Given the description of an element on the screen output the (x, y) to click on. 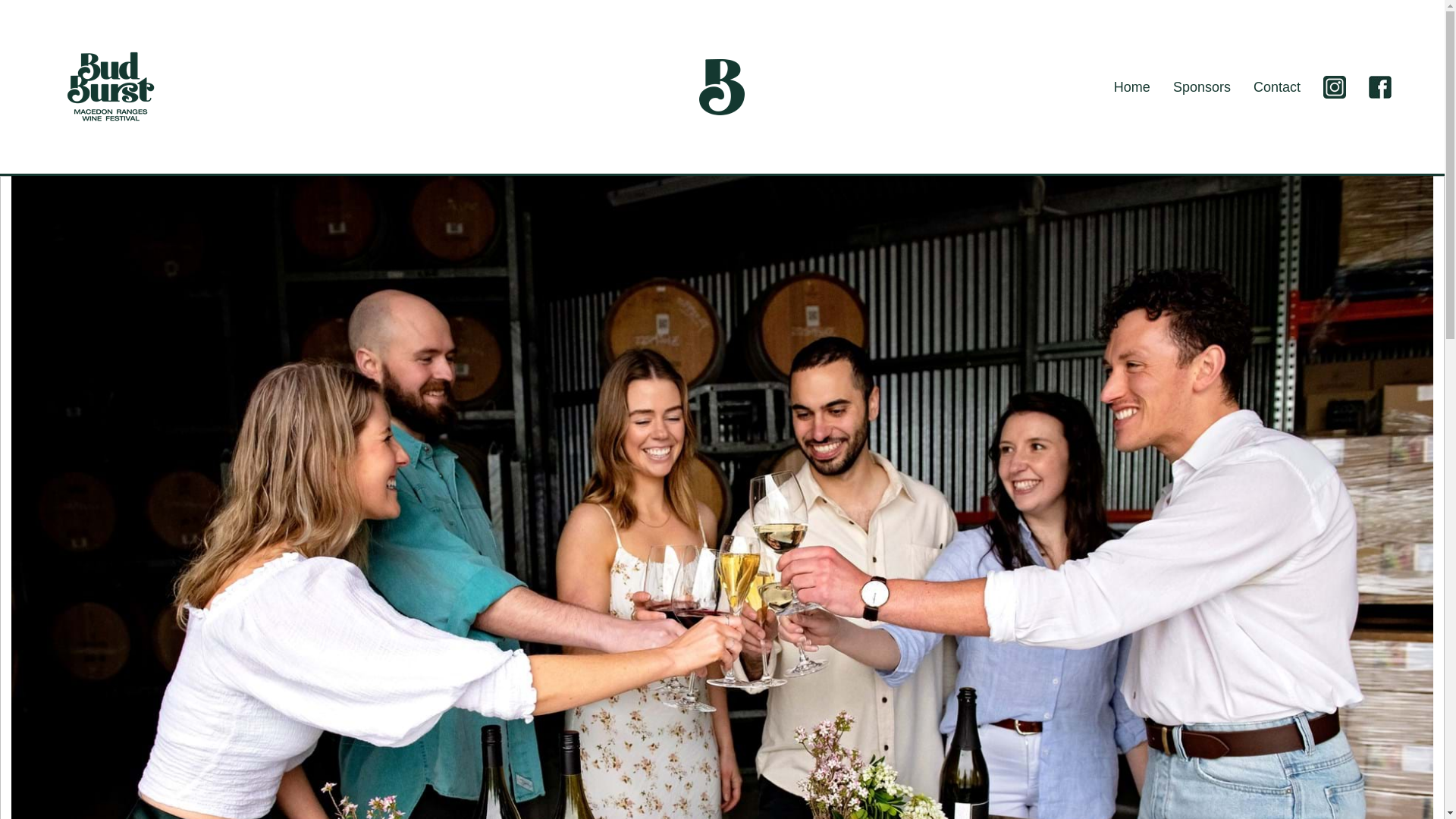
Sponsors (1201, 86)
Contact (1276, 86)
Home (1131, 86)
